Given the description of an element on the screen output the (x, y) to click on. 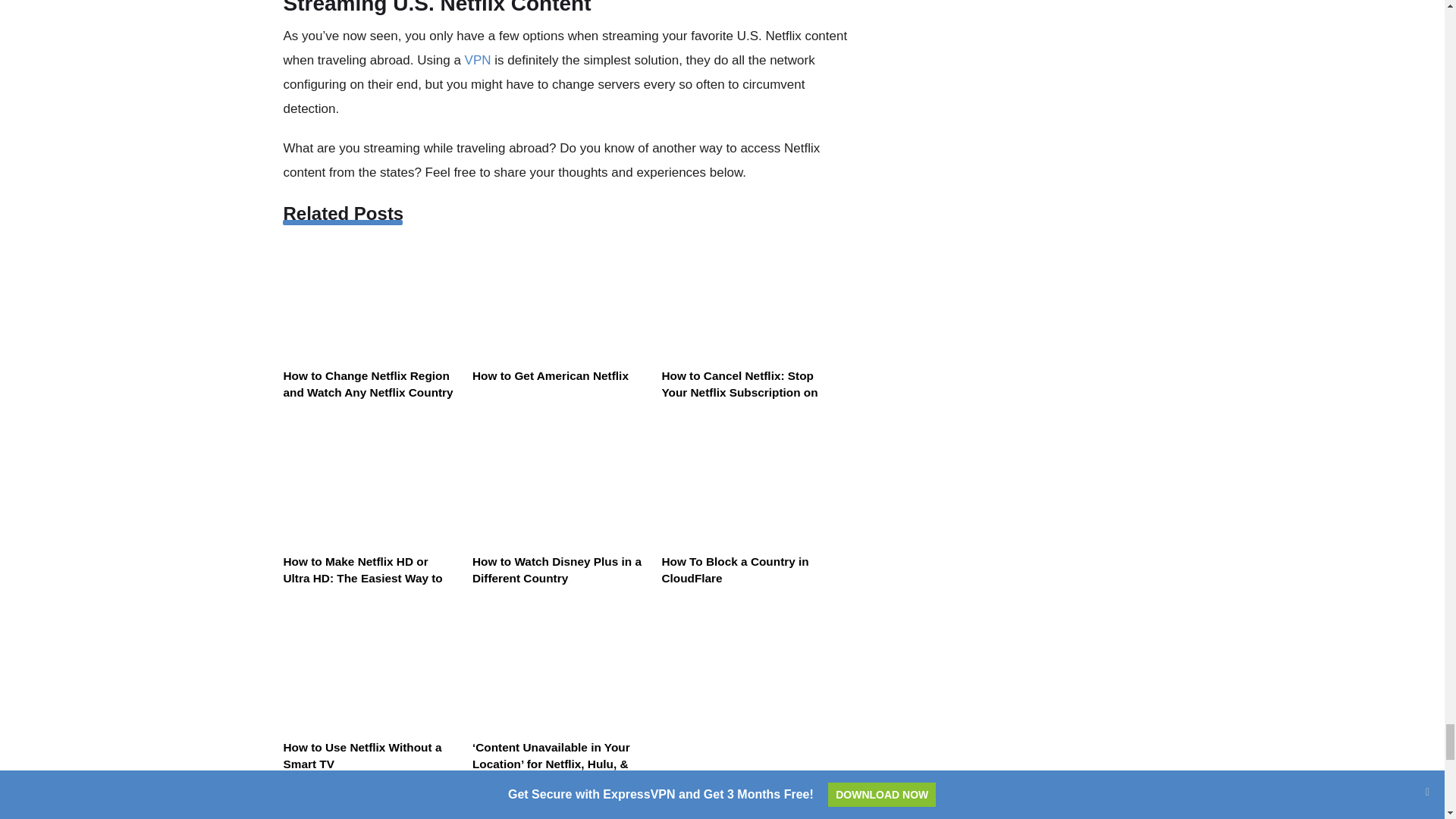
How to Use Netflix Without a Smart TV (374, 689)
How To Block a Country in CloudFlare (752, 504)
How to Watch Disney Plus in a Different Country (562, 504)
How to Get American Netflix (562, 318)
